Given the description of an element on the screen output the (x, y) to click on. 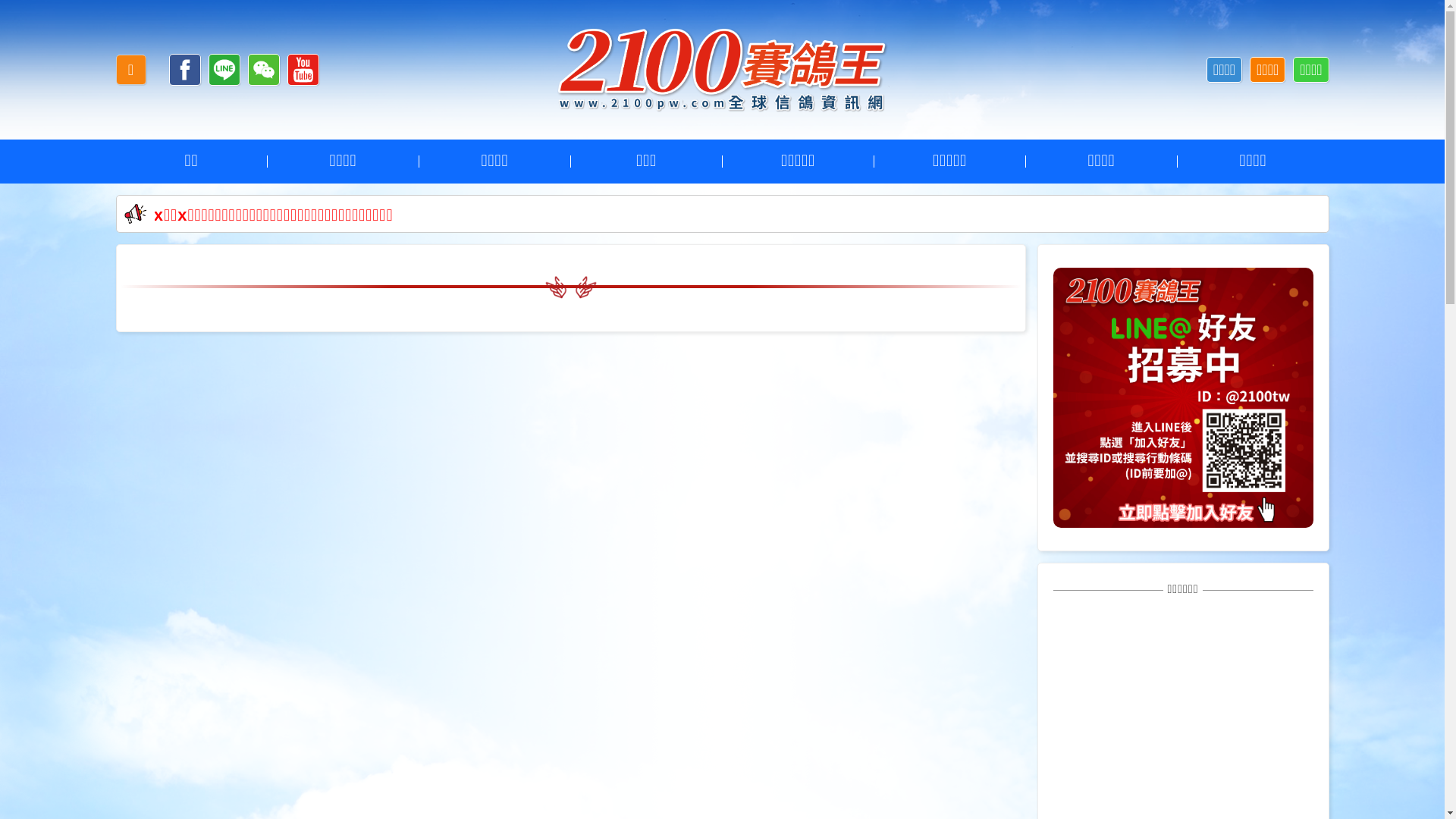
Facebook Element type: hover (184, 69)
Wechat Element type: hover (263, 69)
Youtube Element type: hover (303, 69)
Line Element type: hover (224, 69)
